Given the description of an element on the screen output the (x, y) to click on. 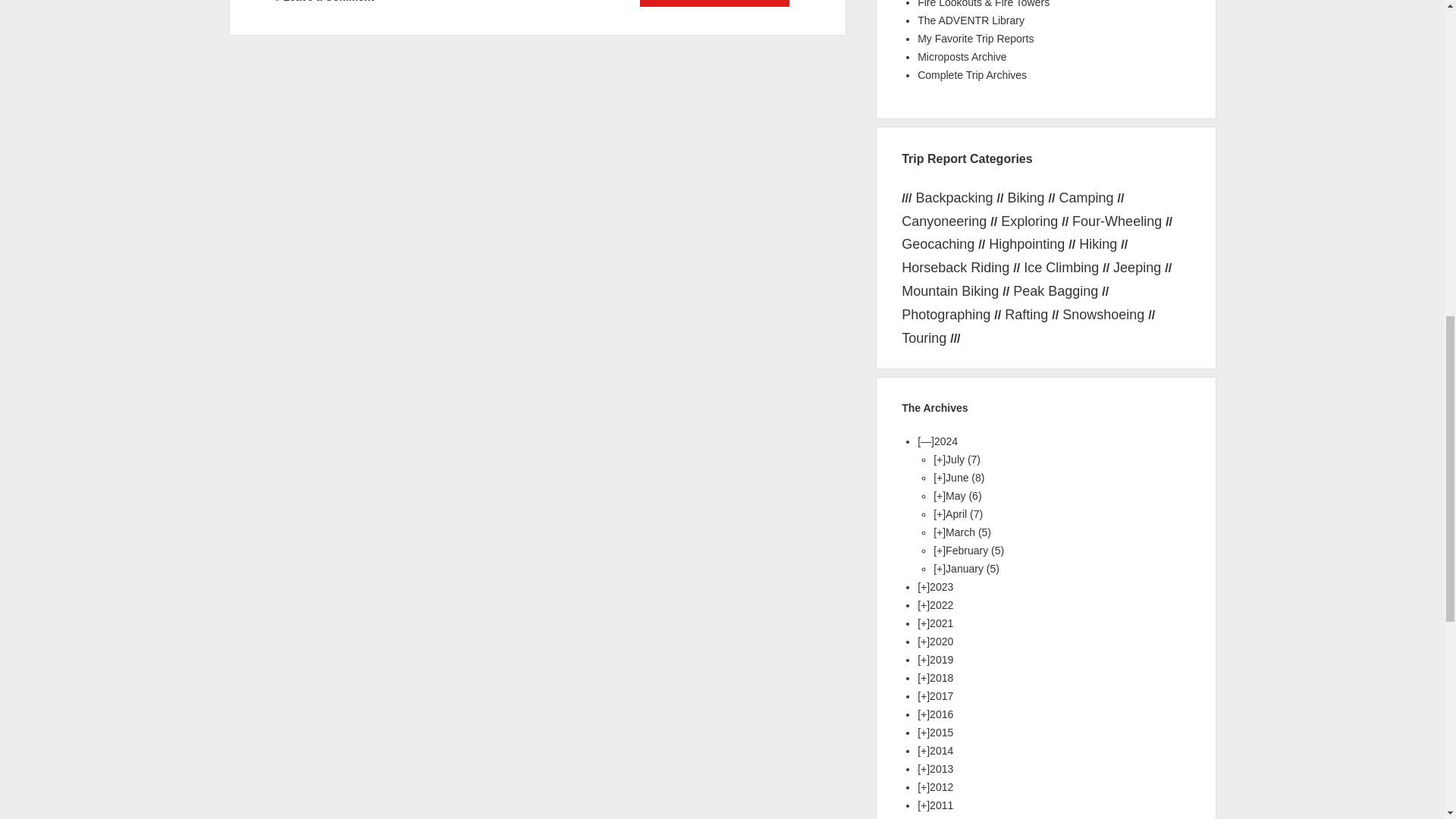
click to expand (938, 459)
click to collapse (925, 440)
